Given the description of an element on the screen output the (x, y) to click on. 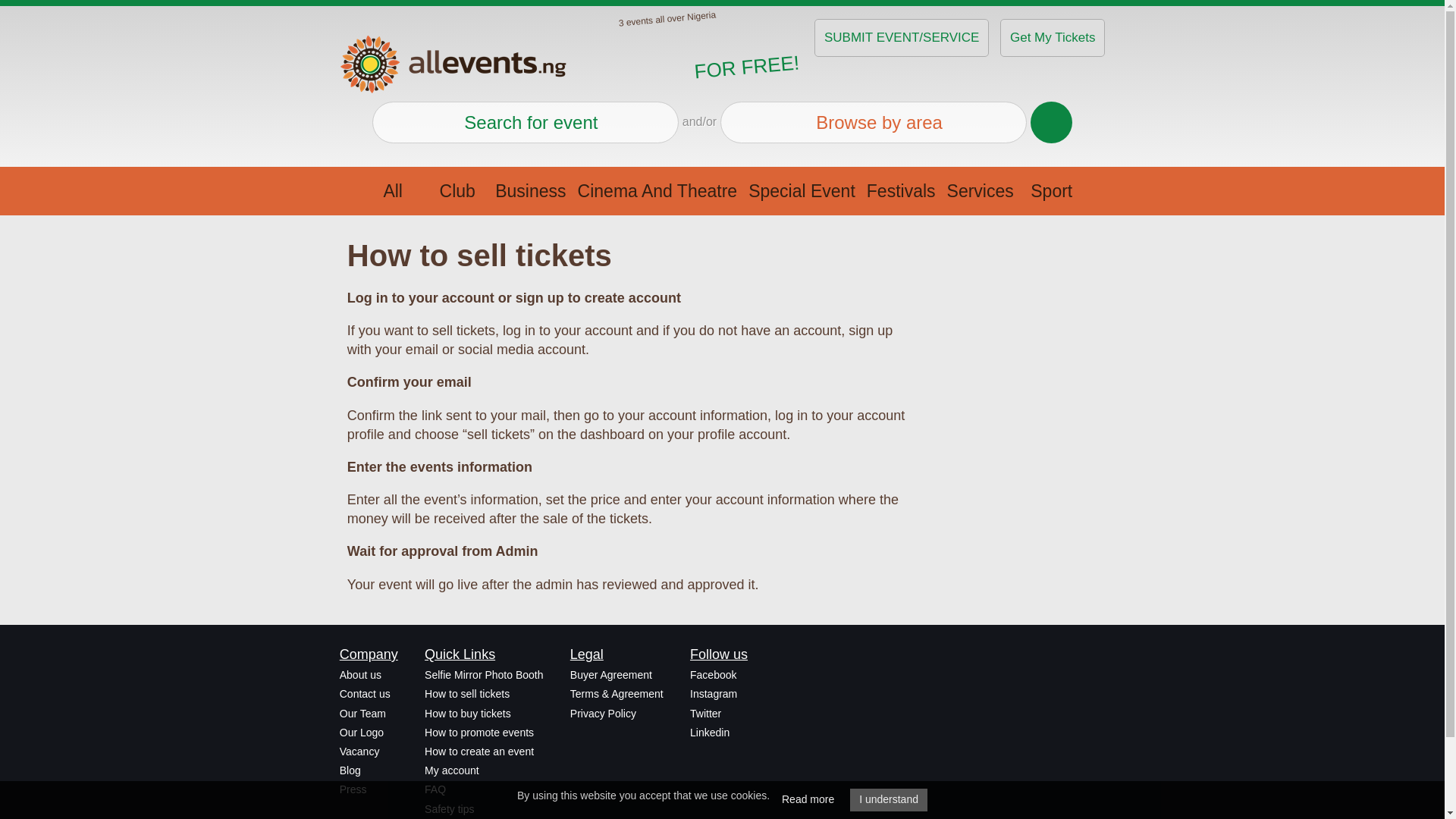
All (392, 191)
I understand (888, 799)
Festivals (901, 191)
Cinema And Theatre (657, 191)
Club (456, 191)
Business (530, 191)
Get My Tickets (1052, 37)
Read more (808, 799)
Special Event (801, 191)
Services (980, 191)
